Given the description of an element on the screen output the (x, y) to click on. 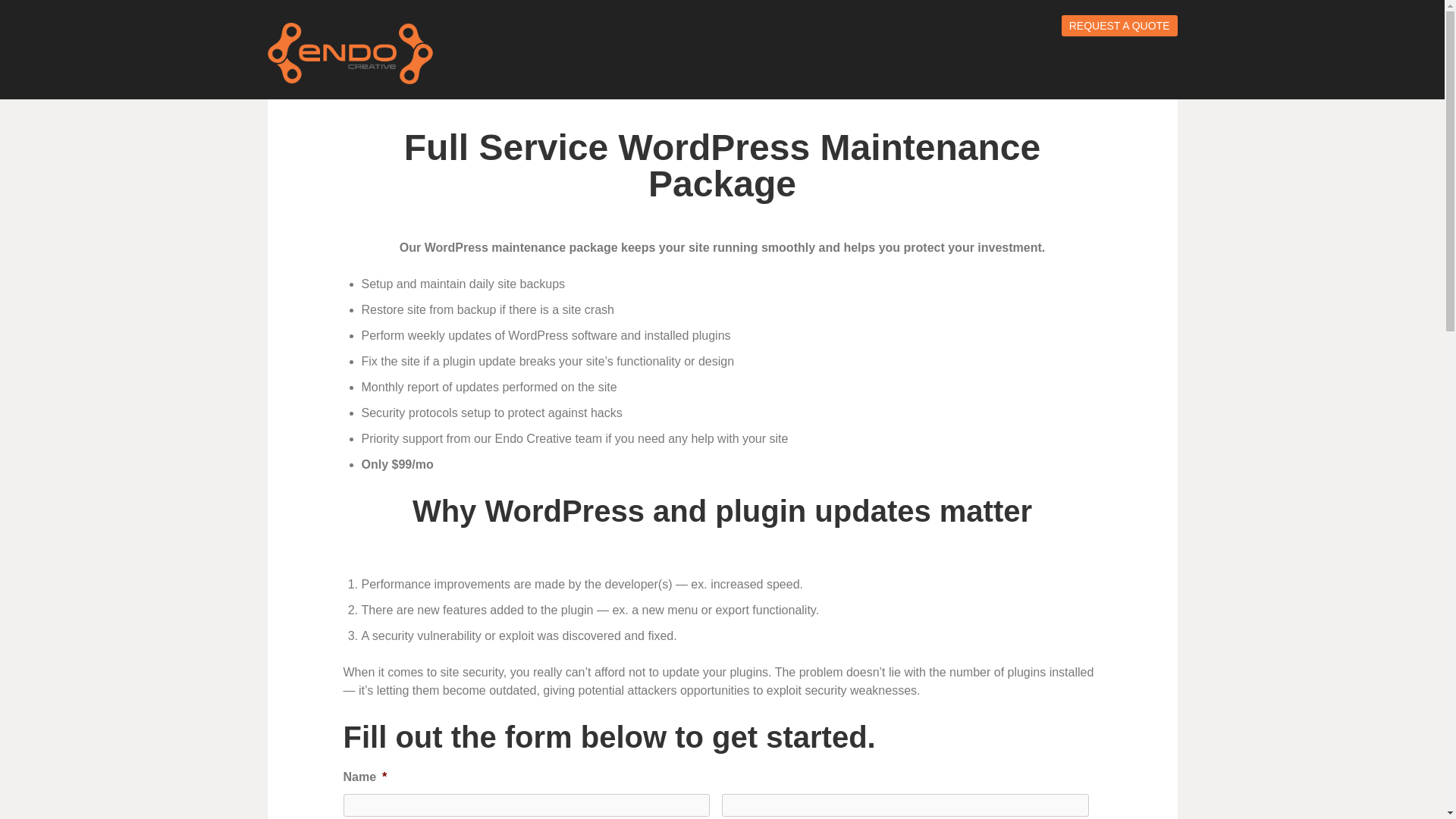
REQUEST A QUOTE (1119, 25)
Endo Creative (349, 53)
